Given the description of an element on the screen output the (x, y) to click on. 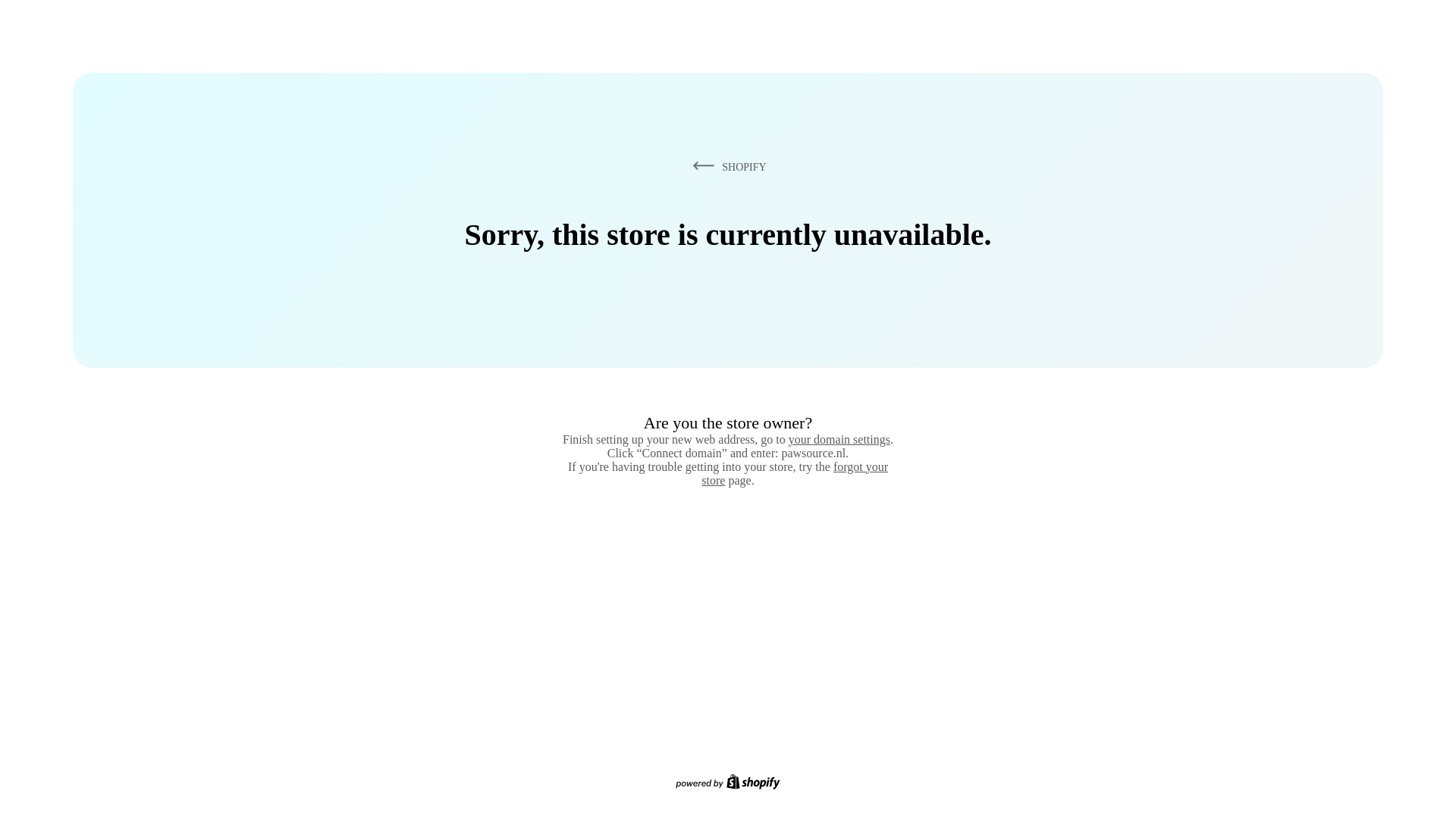
your domain settings (839, 439)
SHOPIFY (726, 166)
forgot your store (794, 473)
